Given the description of an element on the screen output the (x, y) to click on. 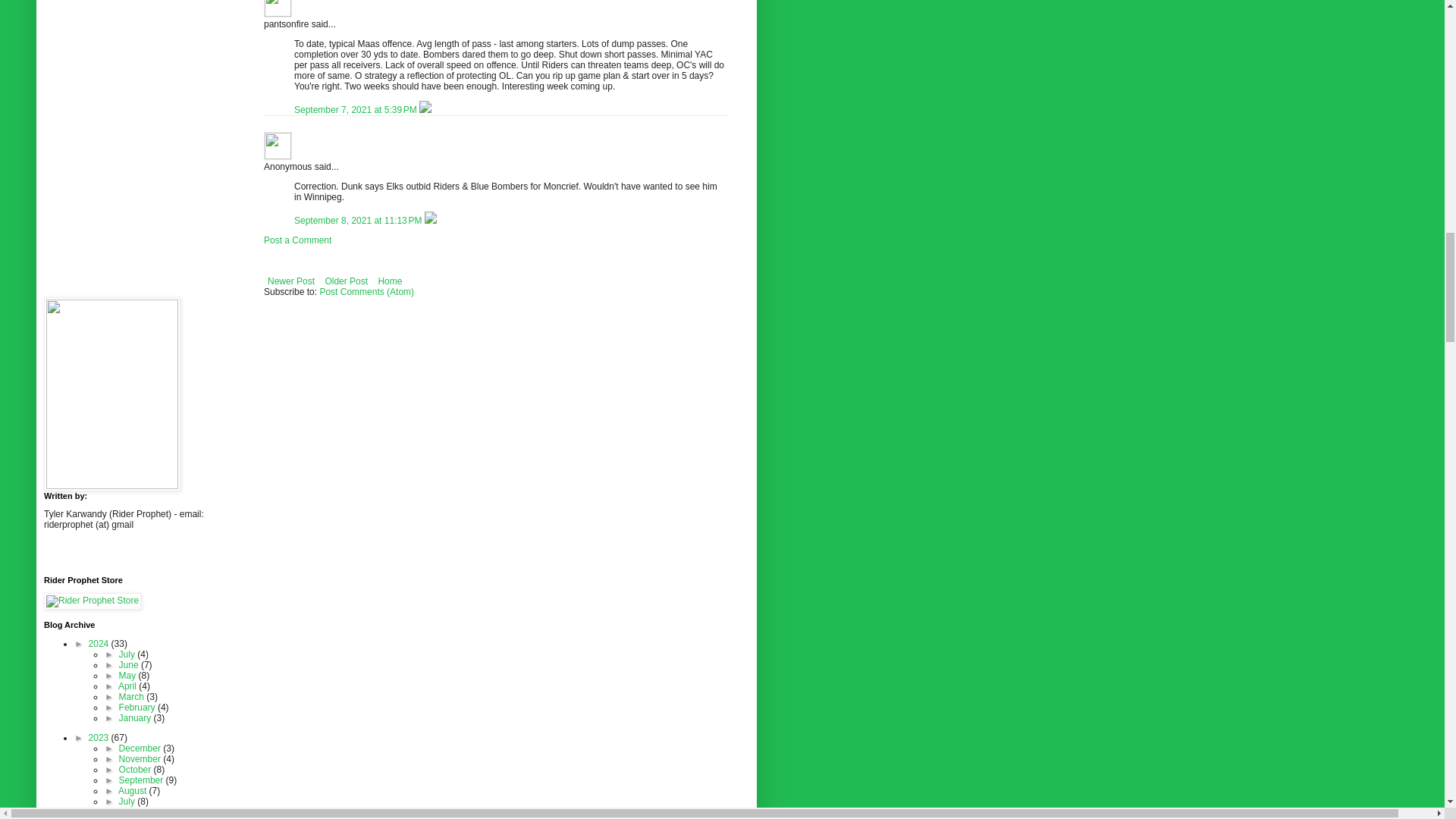
Post a Comment (297, 240)
Older Post (345, 280)
pantsonfire (277, 8)
2024 (100, 643)
July (128, 654)
Newer Post (290, 280)
Home (390, 280)
